Given the description of an element on the screen output the (x, y) to click on. 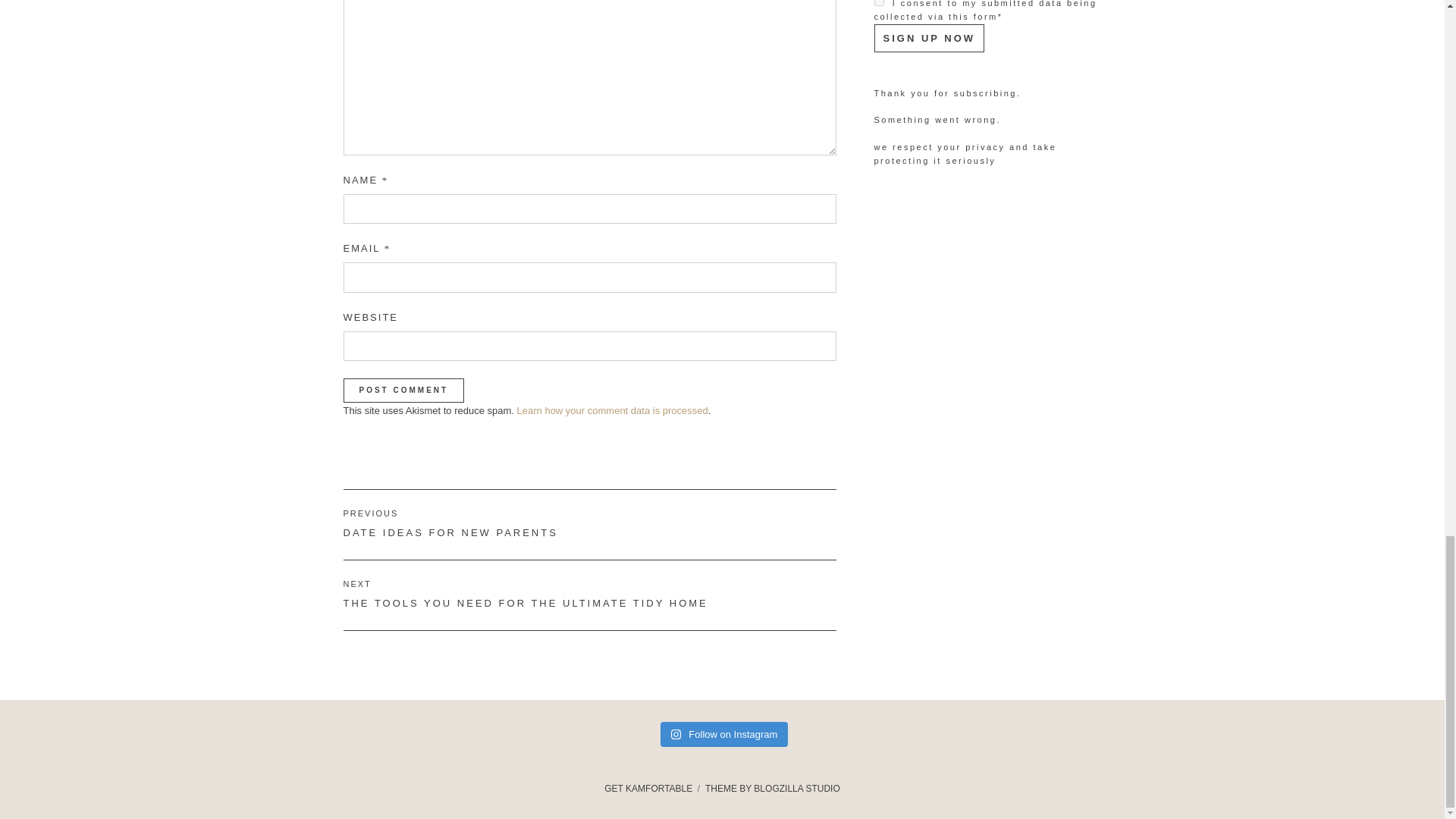
Post Comment (403, 390)
Post Comment (588, 524)
Learn how your comment data is processed (403, 390)
on (611, 410)
Sign Up Now (878, 2)
